Given the description of an element on the screen output the (x, y) to click on. 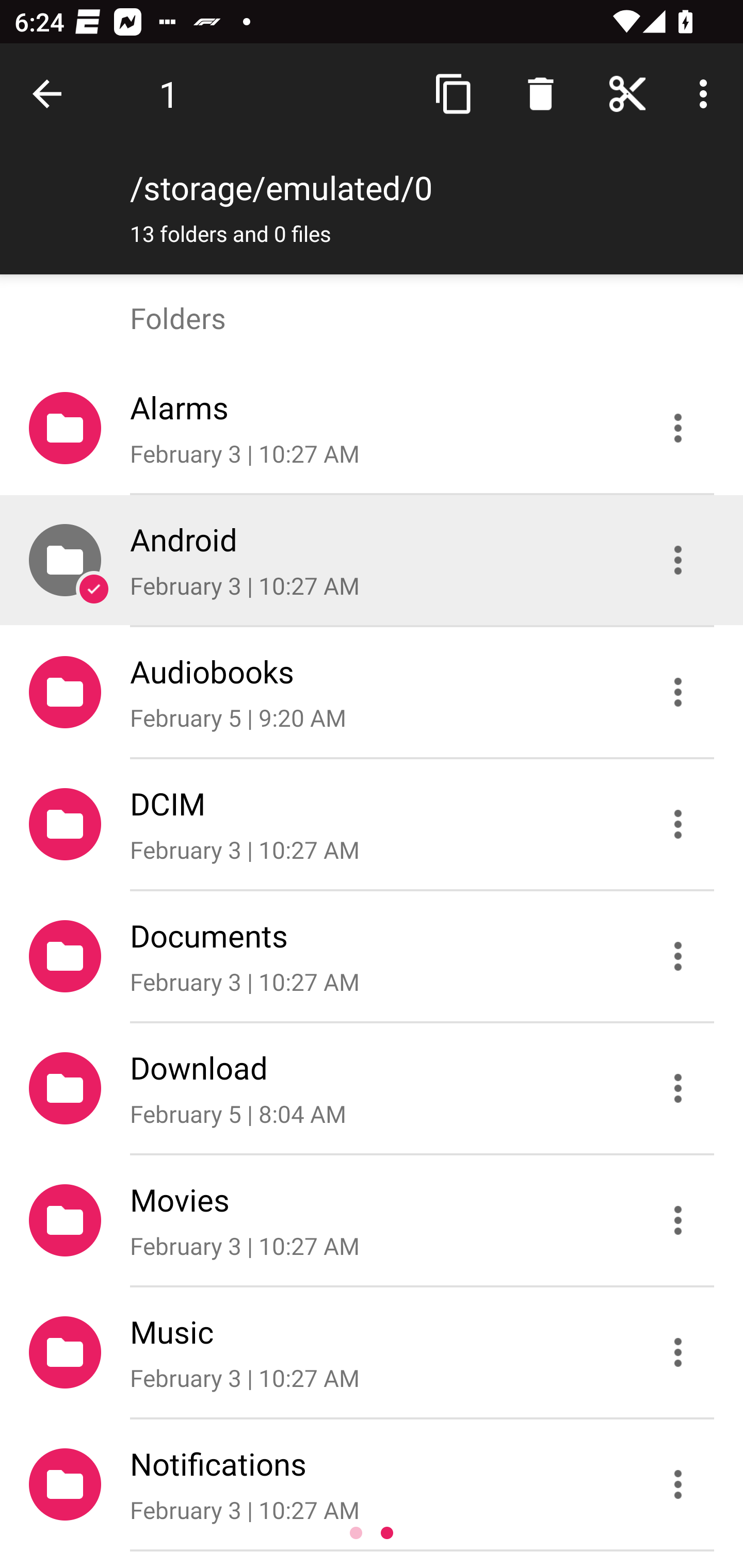
1 (169, 93)
Done (50, 93)
Copy (453, 93)
Search (540, 93)
Delete (540, 93)
Home (626, 93)
Cut (626, 93)
More options (706, 93)
More options (706, 93)
Alarms February 3 | 10:27 AM (371, 427)
Android February 3 | 10:27 AM (371, 560)
Audiobooks February 5 | 9:20 AM (371, 692)
DCIM February 3 | 10:27 AM (371, 823)
Documents February 3 | 10:27 AM (371, 955)
Download February 5 | 8:04 AM (371, 1088)
Movies February 3 | 10:27 AM (371, 1220)
Music February 3 | 10:27 AM (371, 1352)
Notifications February 3 | 10:27 AM (371, 1484)
